Given the description of an element on the screen output the (x, y) to click on. 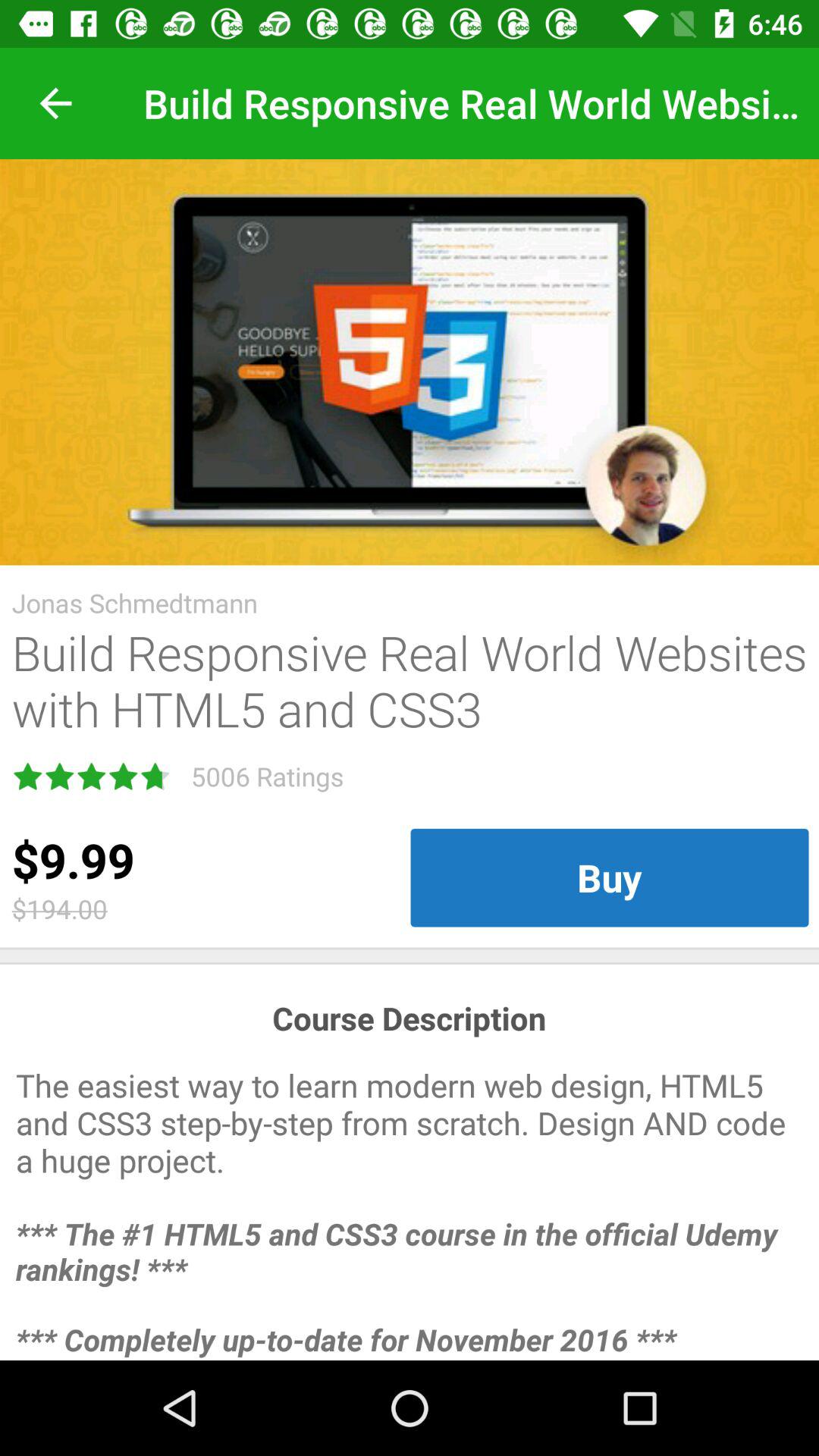
open the item next to the $9.99 icon (609, 877)
